Given the description of an element on the screen output the (x, y) to click on. 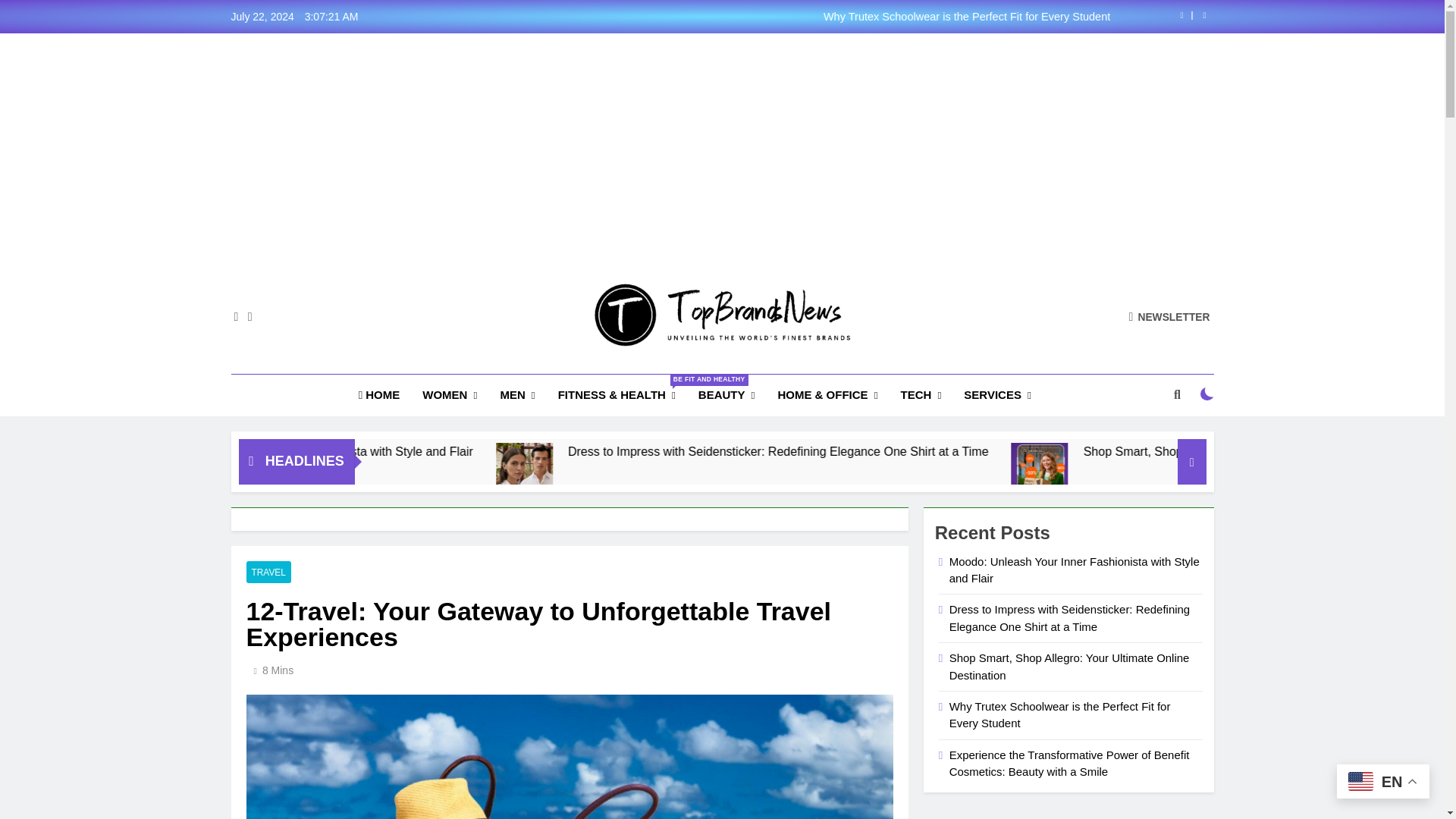
Moodo: Unleash Your Inner Fashionista with Style and Flair (483, 451)
WOMEN (448, 395)
on (1206, 394)
MEN (516, 395)
Why Trutex Schoolwear is the Perfect Fit for Every Student (817, 16)
Why Trutex Schoolwear is the Perfect Fit for Every Student (817, 16)
NEWSLETTER (1169, 316)
HOME (379, 394)
Top Brands News (608, 368)
BEAUTY (727, 395)
